Given the description of an element on the screen output the (x, y) to click on. 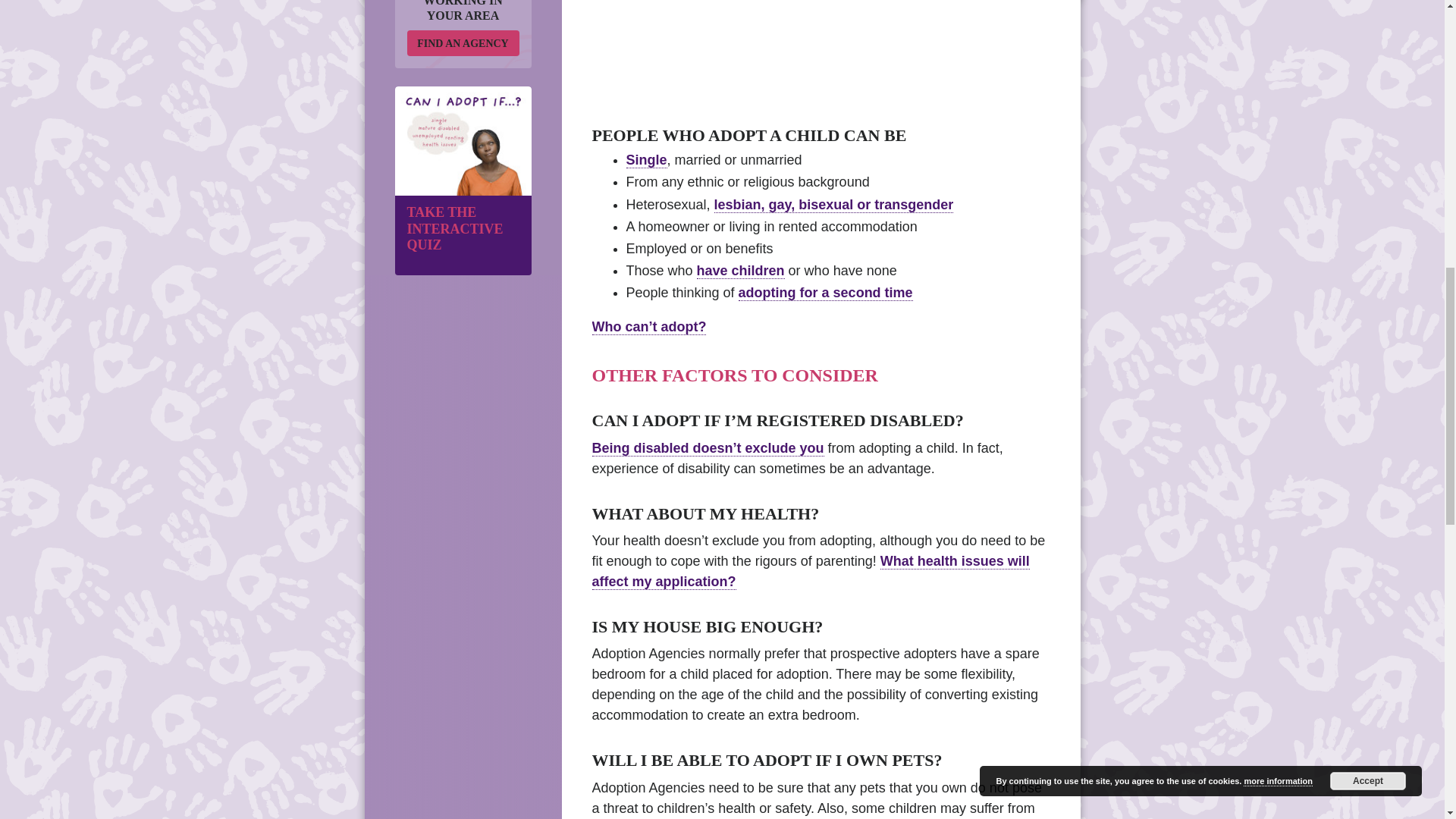
Single (646, 160)
Single and thinking about adoption? (646, 160)
FIND AN AGENCY (462, 43)
TAKE THE INTERACTIVE QUIZ (462, 235)
